Given the description of an element on the screen output the (x, y) to click on. 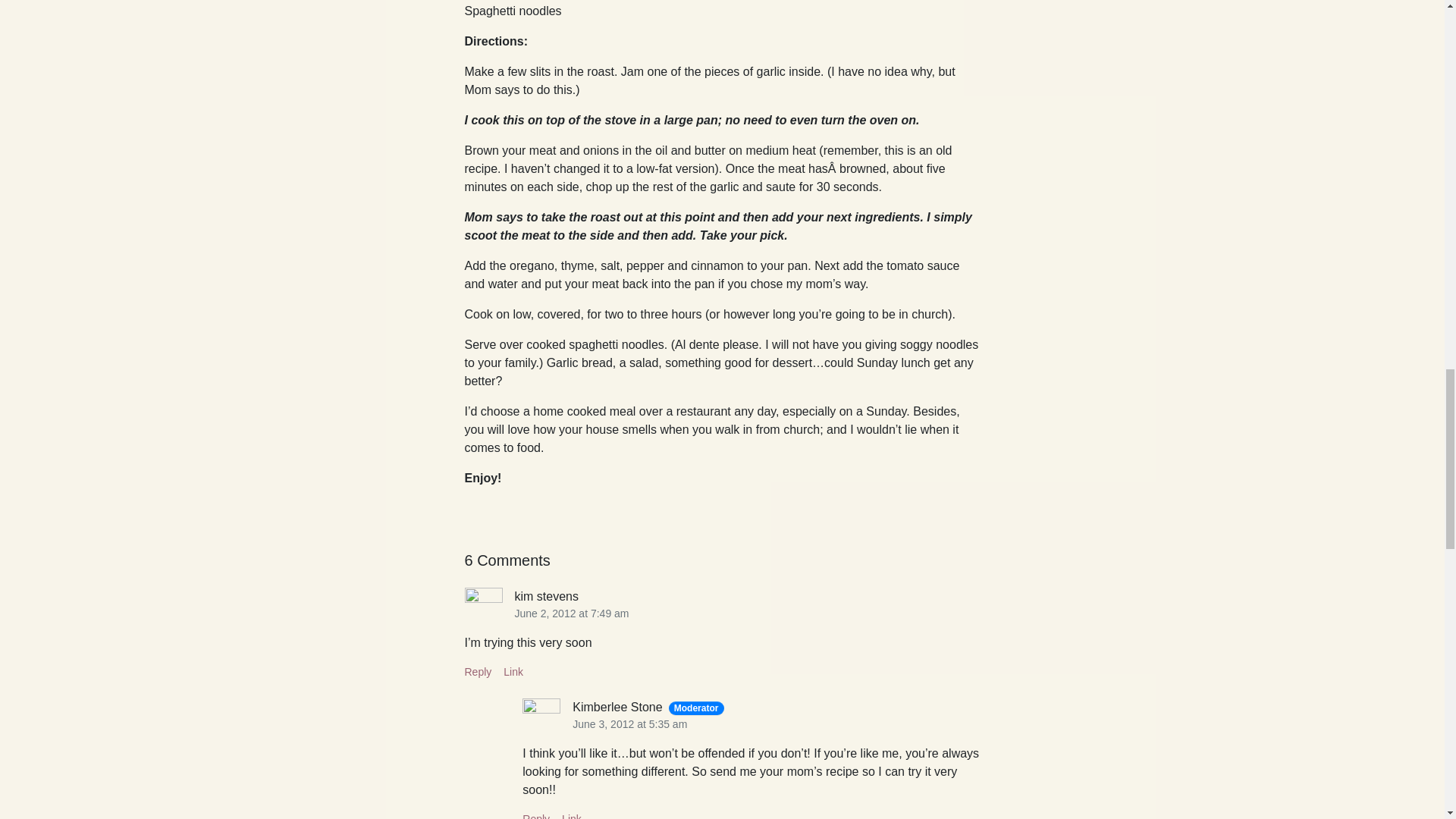
Reply (536, 816)
Link (512, 671)
Reply (478, 671)
Link (571, 816)
